Given the description of an element on the screen output the (x, y) to click on. 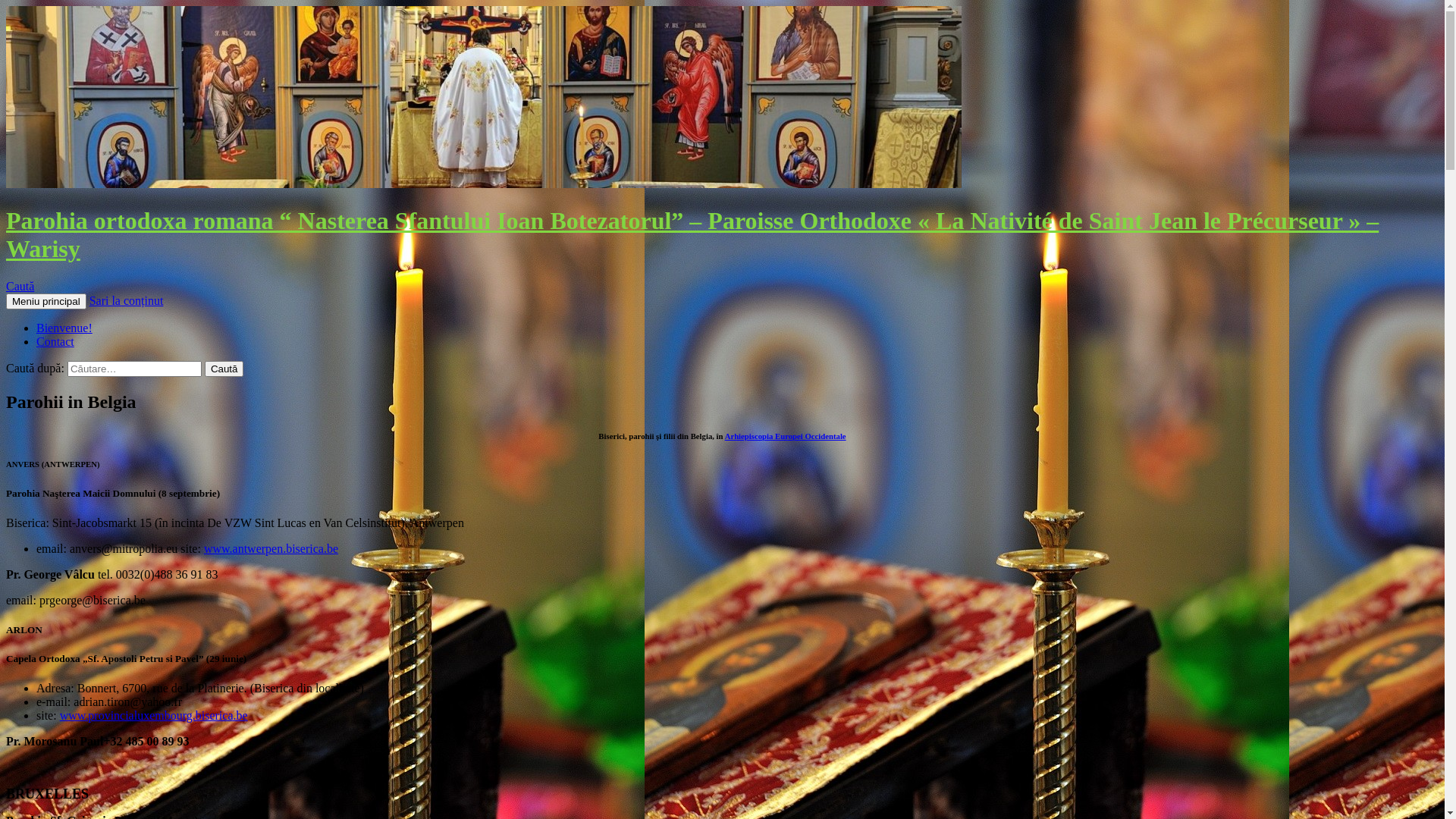
Meniu principal Element type: text (46, 301)
Arhiepiscopia Europei Occidentale Element type: text (785, 435)
Contact Element type: text (55, 341)
anvers@mitropolia.eu Element type: text (123, 548)
Bienvenue! Element type: text (64, 327)
www.provincialuxembourg.biserica.be Element type: text (153, 715)
www.antwerpen.biserica.be Element type: text (270, 548)
prgeorge@biserica.be Element type: text (92, 599)
